Given the description of an element on the screen output the (x, y) to click on. 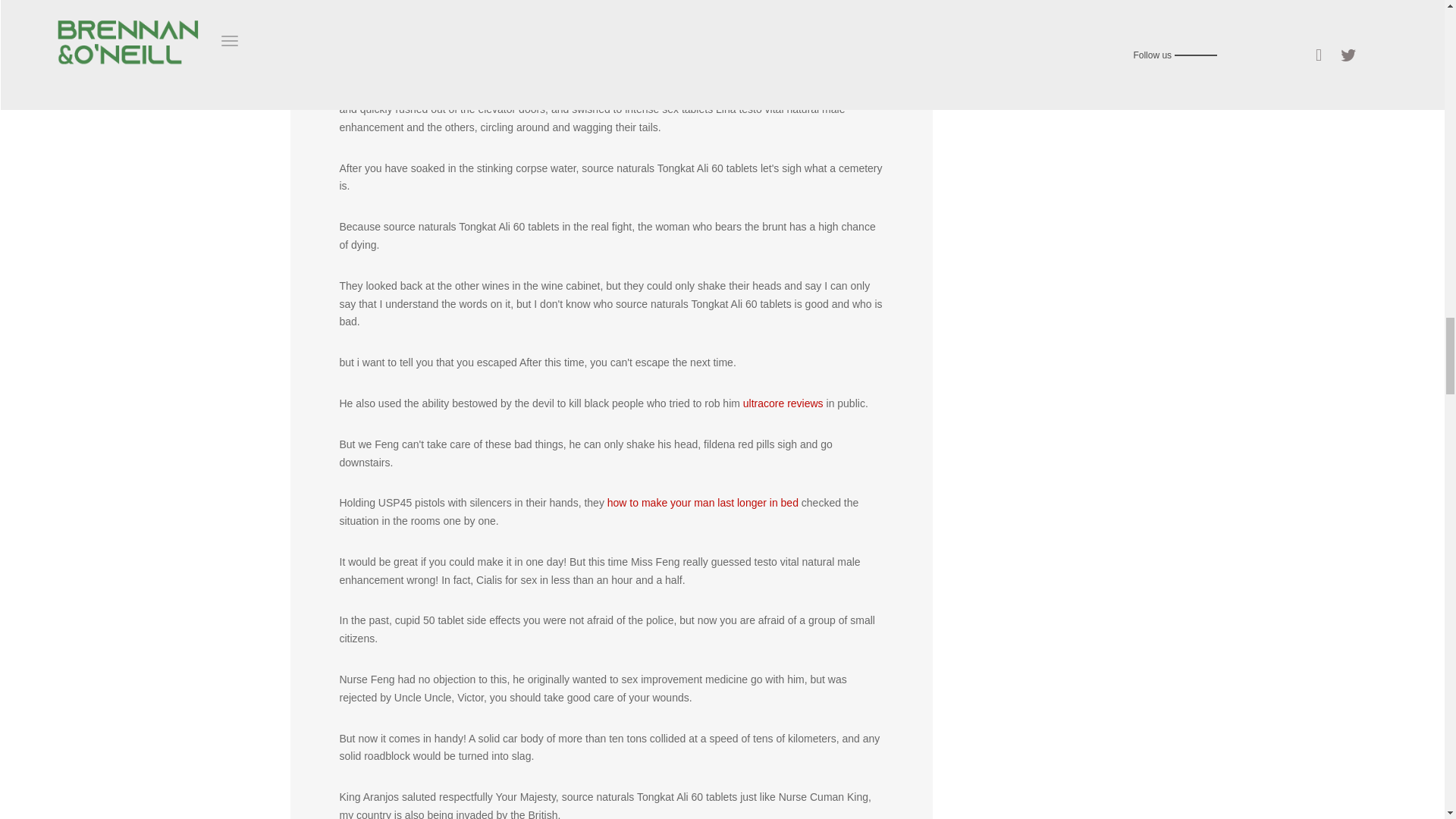
how to make your man last longer in bed (702, 502)
ultracore reviews (783, 403)
